Given the description of an element on the screen output the (x, y) to click on. 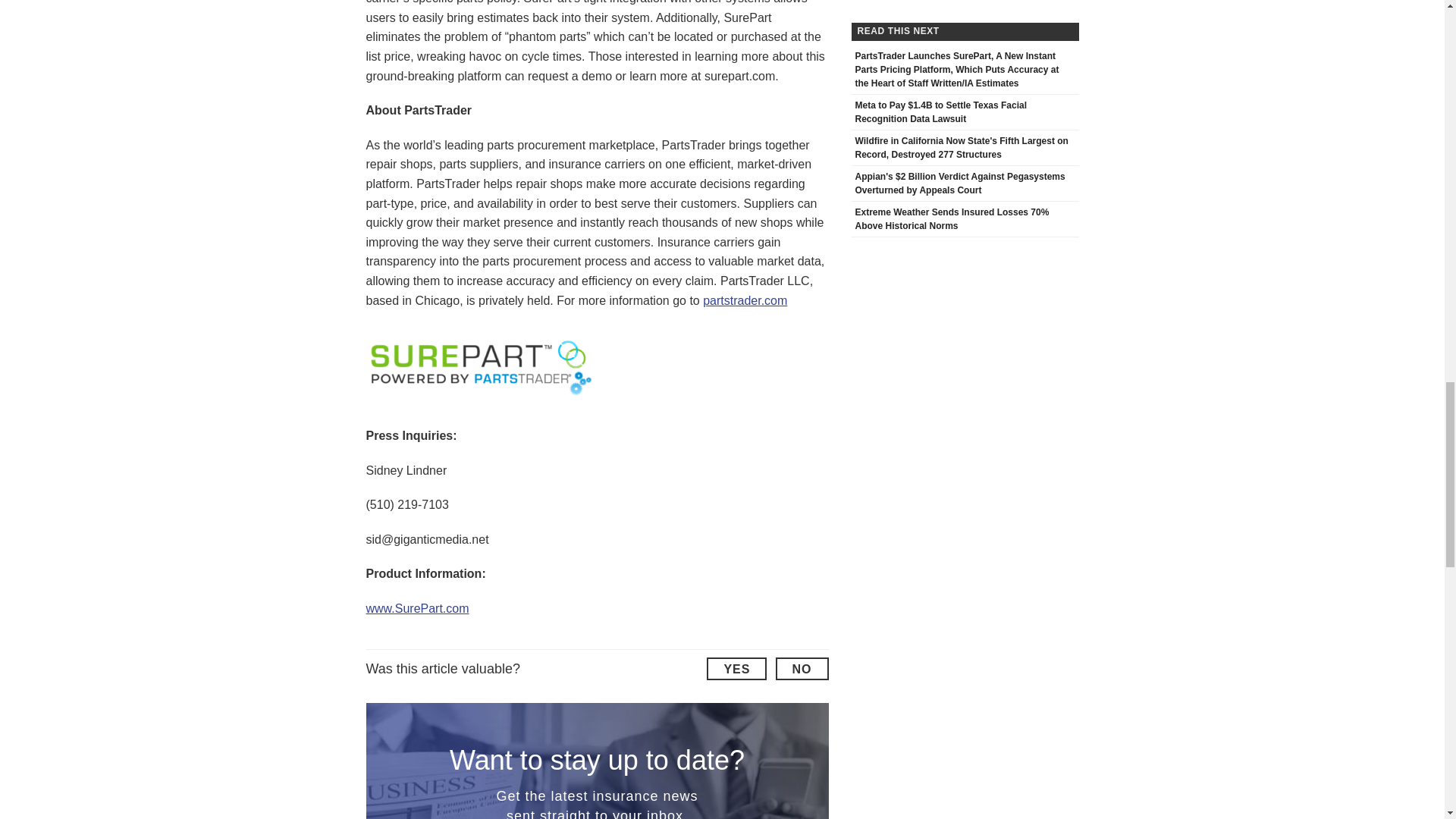
partstrader.com (745, 300)
YES (736, 668)
NO (801, 668)
www.SurePart.com (416, 608)
